Given the description of an element on the screen output the (x, y) to click on. 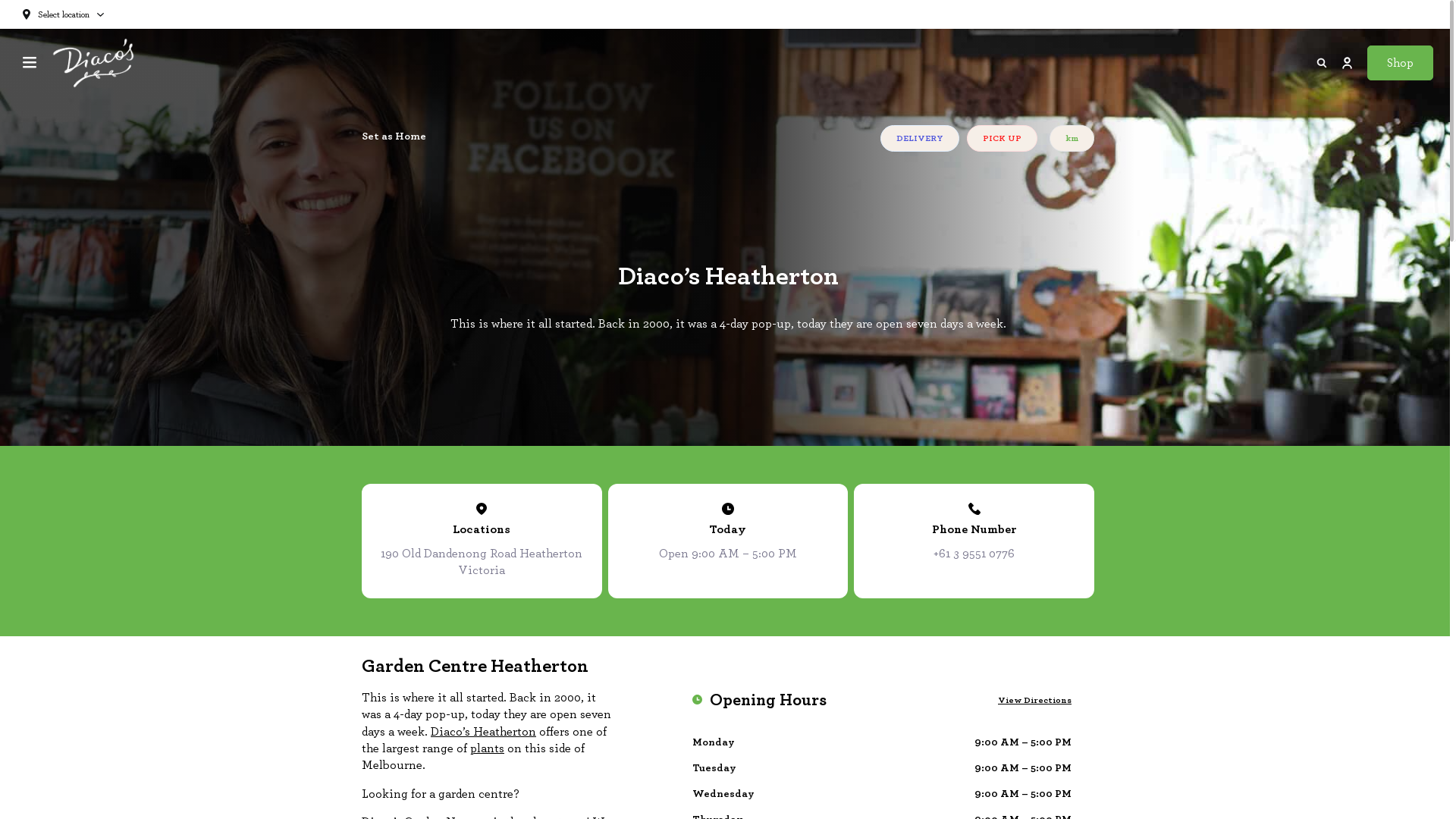
Phone Number
+61 3 9551 0776 Element type: text (973, 540)
Locations
190 Old Dandenong Road Heatherton Victoria Element type: text (481, 540)
View Directions Element type: text (1034, 699)
Shop Element type: text (1400, 62)
Set as Home Element type: text (542, 136)
Select location Element type: text (62, 14)
plants Element type: text (487, 748)
